Given the description of an element on the screen output the (x, y) to click on. 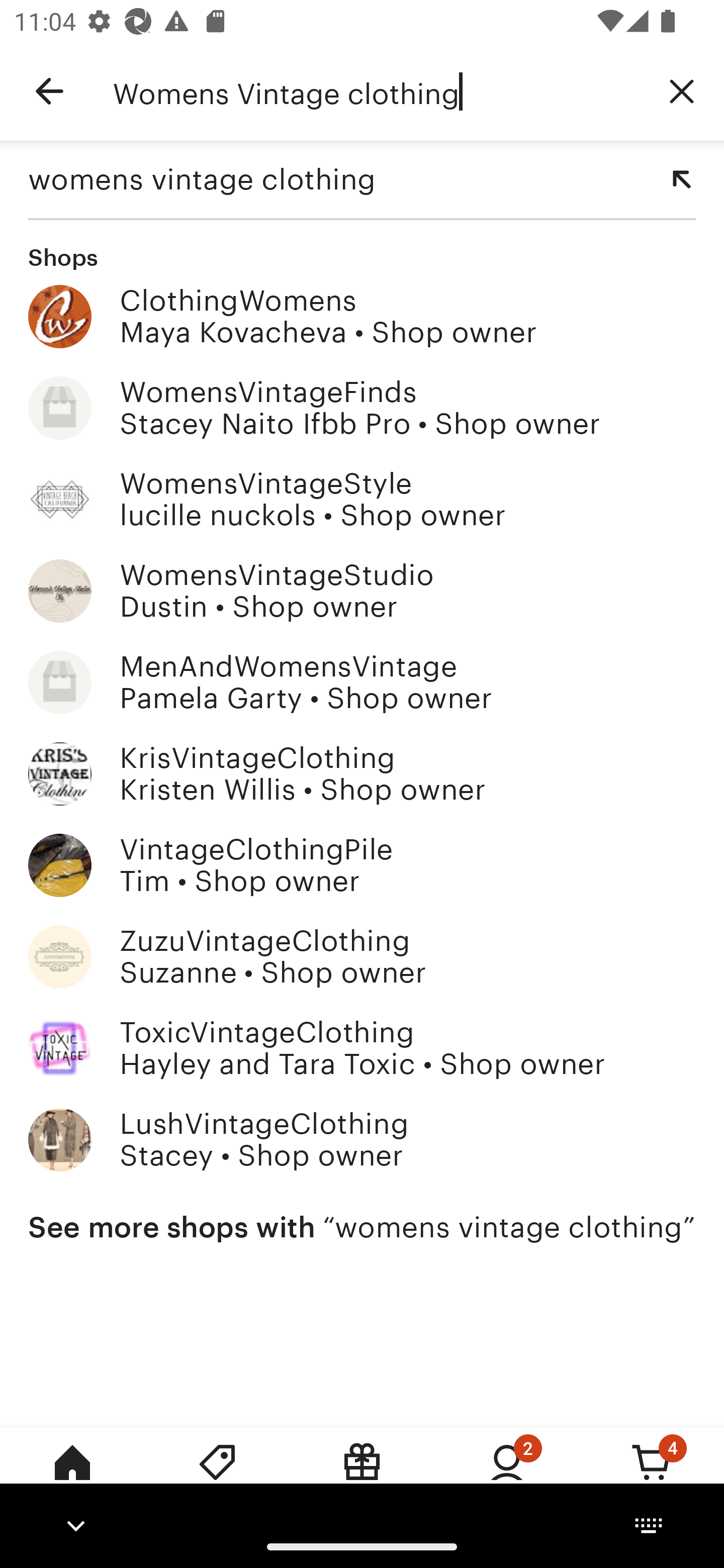
Navigate up (49, 91)
Clear query (681, 90)
Womens Vintage clothing (375, 91)
See more shops with “womens vintage clothing” (362, 1227)
Deals (216, 1475)
Gift Mode (361, 1475)
You, 2 new notifications (506, 1475)
Cart, 4 new notifications (651, 1475)
